Given the description of an element on the screen output the (x, y) to click on. 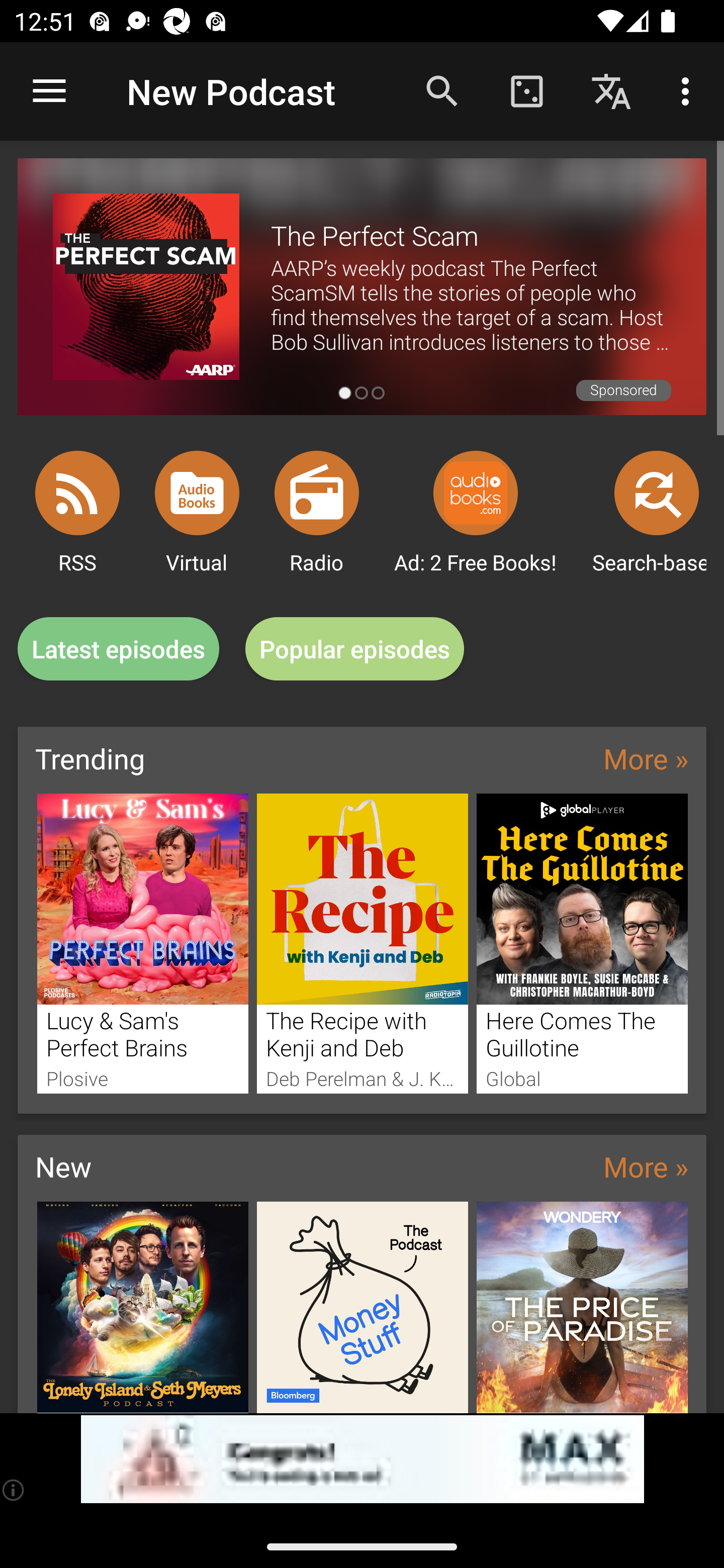
Open navigation sidebar (49, 91)
Search (442, 90)
Random pick (526, 90)
Podcast languages (611, 90)
More options (688, 90)
RSS (77, 492)
Virtual (196, 492)
Radio (316, 492)
Search-based (656, 492)
Latest episodes (118, 648)
Popular episodes (354, 648)
More » (645, 757)
Lucy & Sam's Perfect Brains Plosive (142, 942)
Here Comes The Guillotine Global (581, 942)
More » (645, 1166)
The Lonely Island and Seth Meyers Podcast (142, 1306)
Money Stuff: The Podcast (362, 1306)
The Price of Paradise (581, 1306)
app-monetization (362, 1459)
(i) (14, 1489)
